Given the description of an element on the screen output the (x, y) to click on. 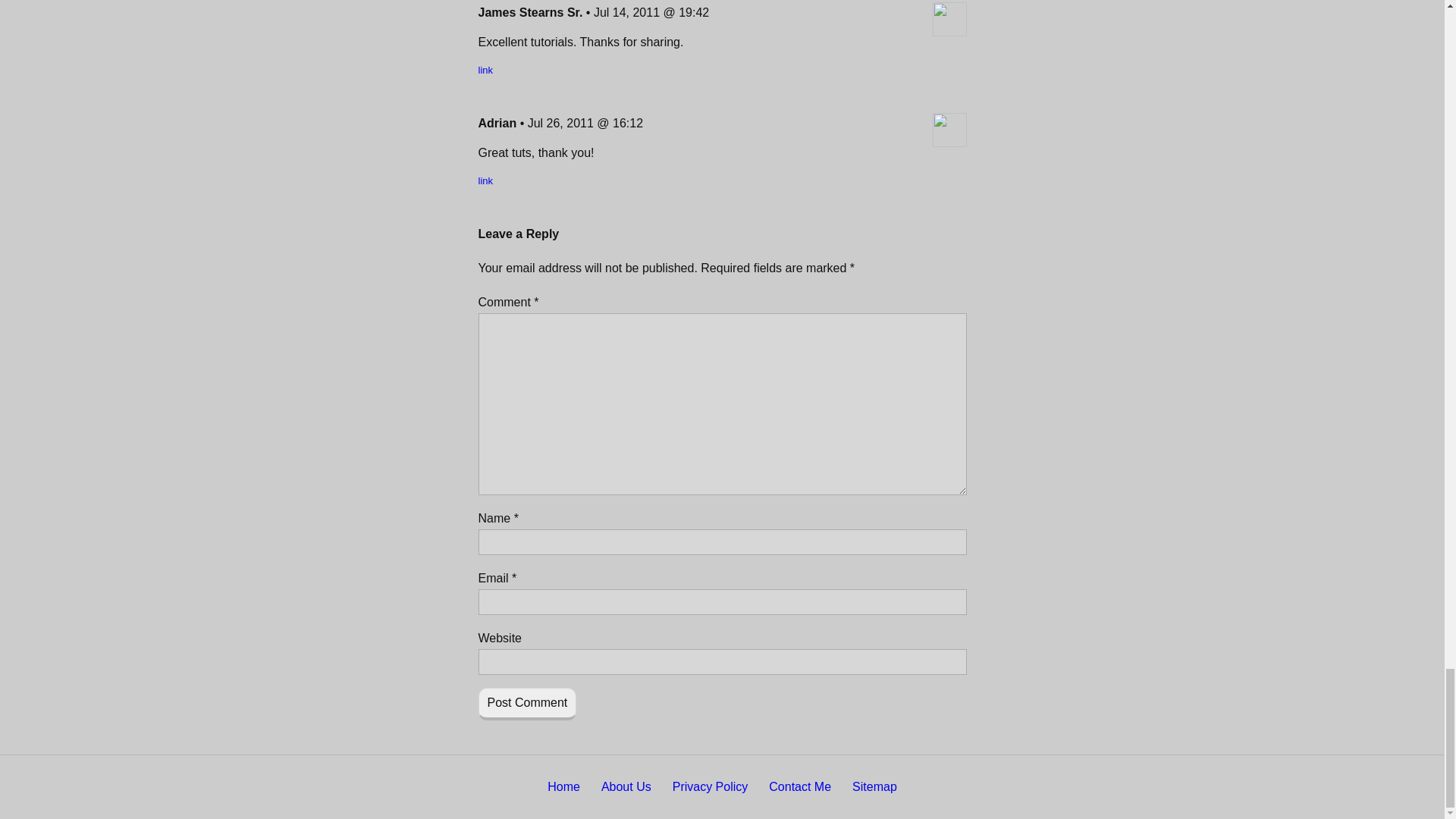
Privacy Policy (710, 786)
permalink to this comment (485, 180)
Post Comment (526, 703)
link (485, 70)
permalink to this comment (485, 70)
Contact Me (799, 786)
Sitemap (873, 786)
Post Comment (526, 703)
link (485, 180)
About Us (625, 786)
